Given the description of an element on the screen output the (x, y) to click on. 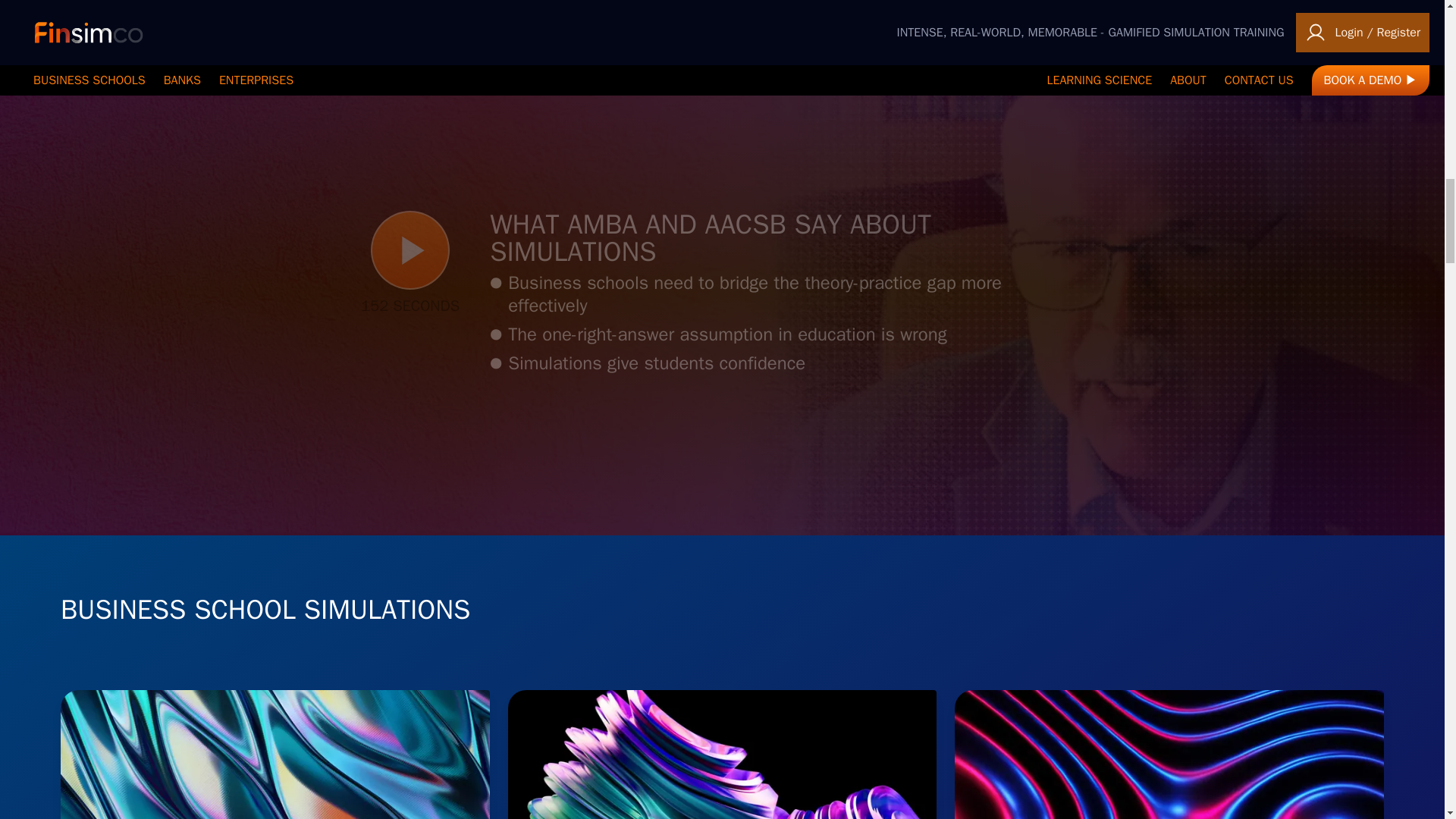
Startup Creation (275, 754)
Startup Funding (722, 754)
Introduction to Finance (1169, 754)
